Given the description of an element on the screen output the (x, y) to click on. 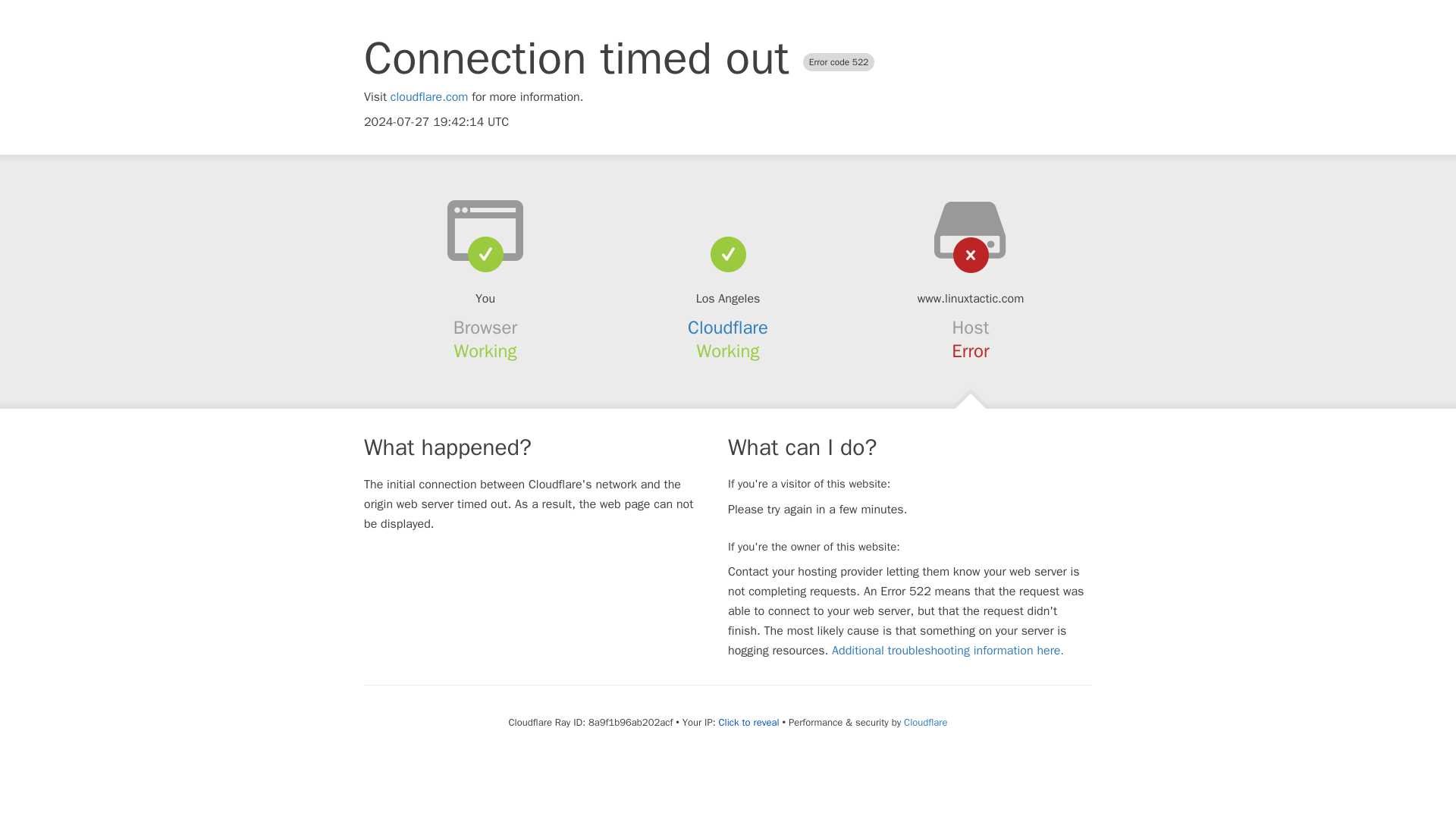
Cloudflare (727, 327)
Cloudflare (925, 721)
cloudflare.com (429, 96)
Click to reveal (748, 722)
Additional troubleshooting information here. (947, 650)
